Given the description of an element on the screen output the (x, y) to click on. 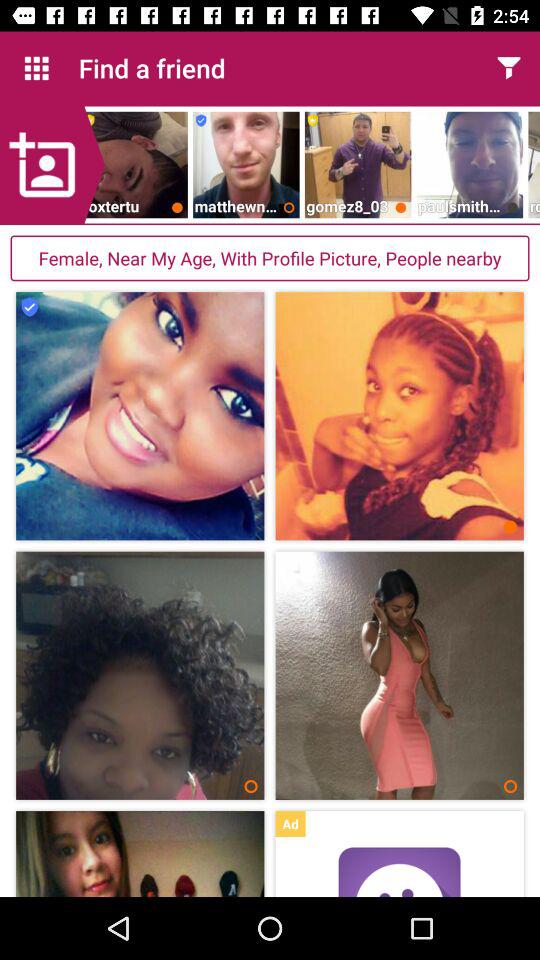
tap item above female near my icon (52, 165)
